Given the description of an element on the screen output the (x, y) to click on. 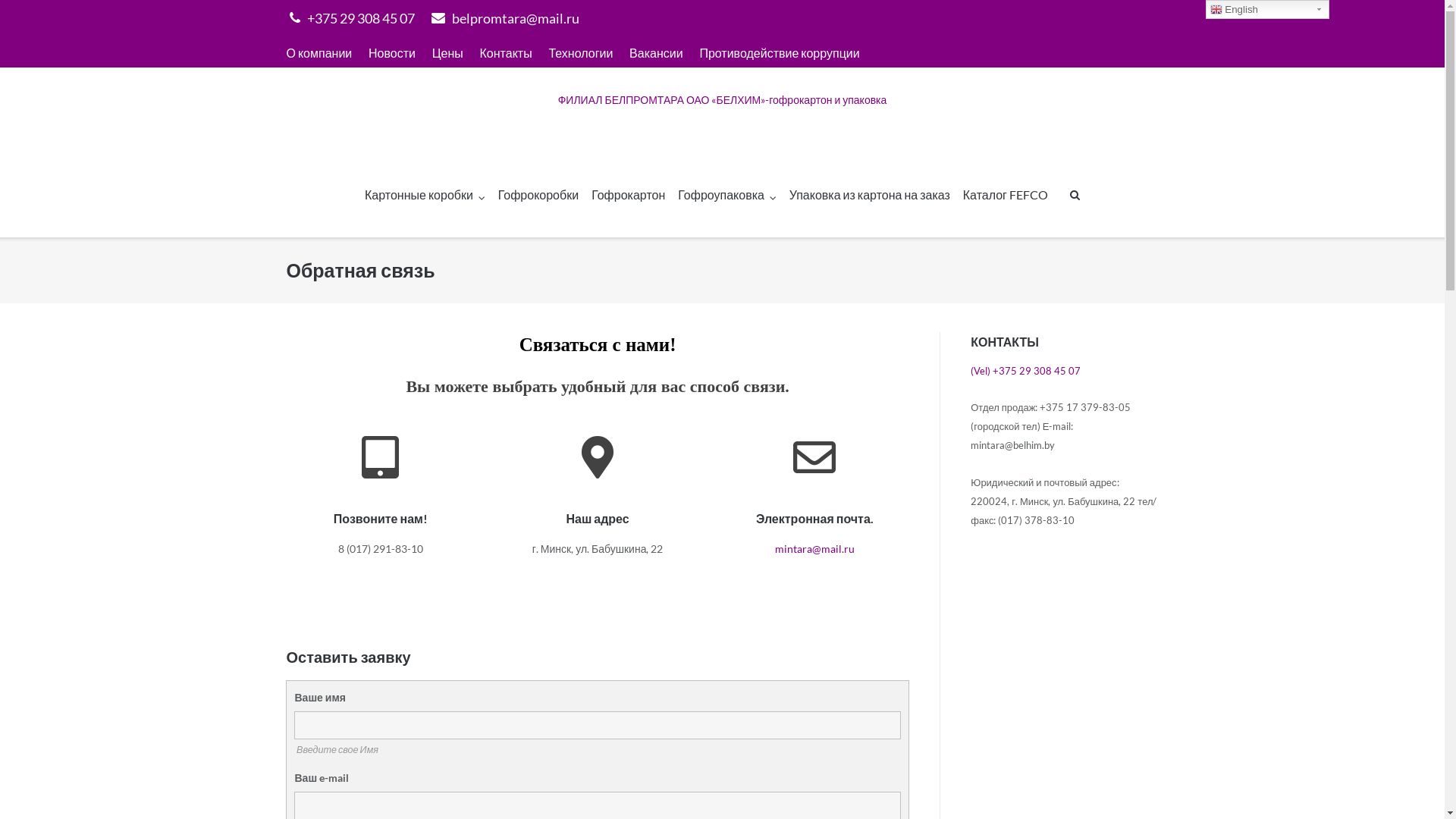
English Element type: text (1267, 9)
mintara@mail.ru Element type: text (814, 548)
+375 29 308 45 07 Element type: text (351, 17)
(Vel) +375 29 308 45 07 Element type: text (1025, 370)
belpromtara@mail.ru Element type: text (505, 17)
